Given the description of an element on the screen output the (x, y) to click on. 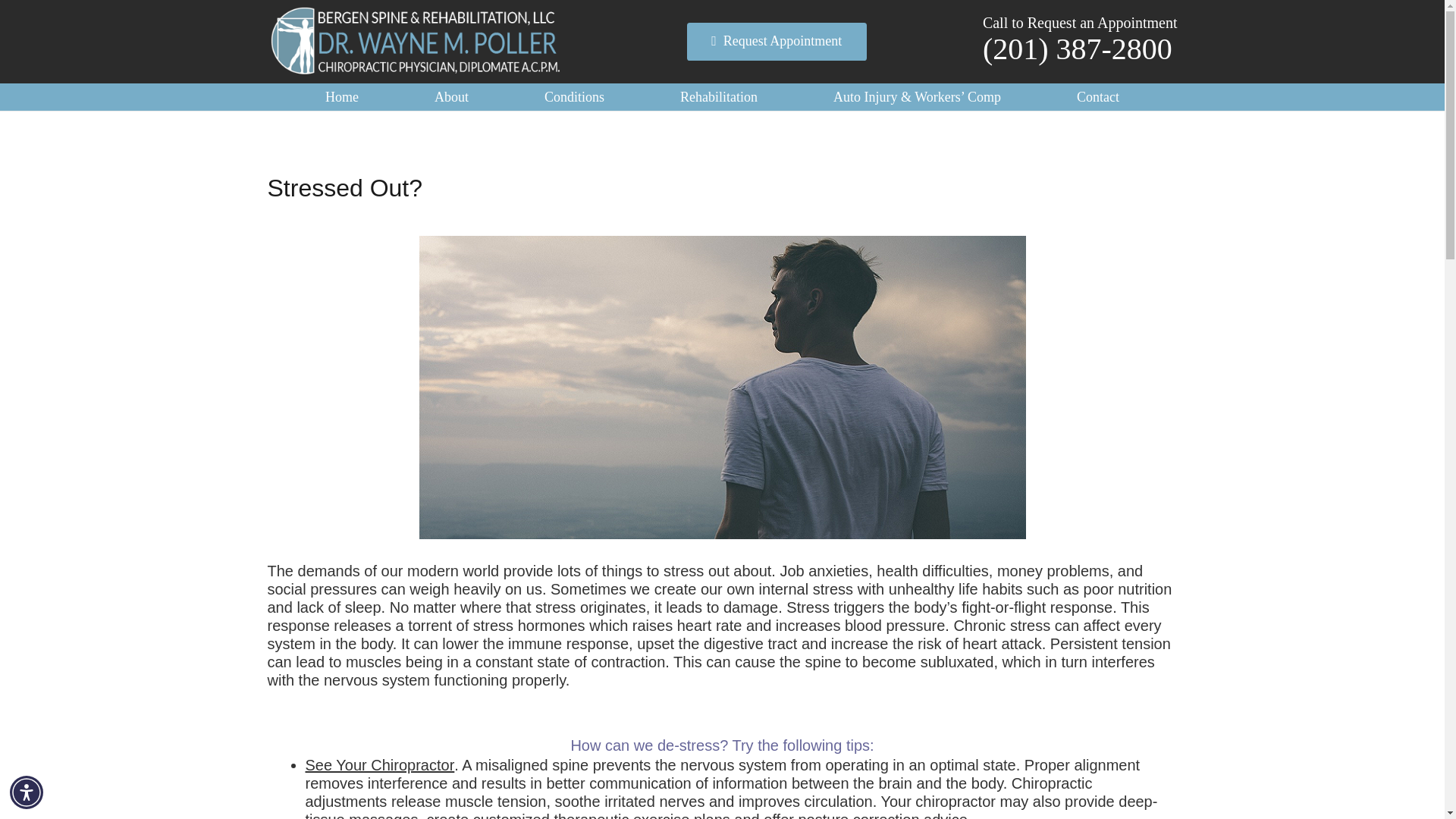
Conditions (574, 96)
About (451, 96)
Contact (1098, 96)
Accessibility Menu (26, 792)
Rehabilitation (718, 96)
Home (341, 96)
Request Appointment (776, 41)
